Given the description of an element on the screen output the (x, y) to click on. 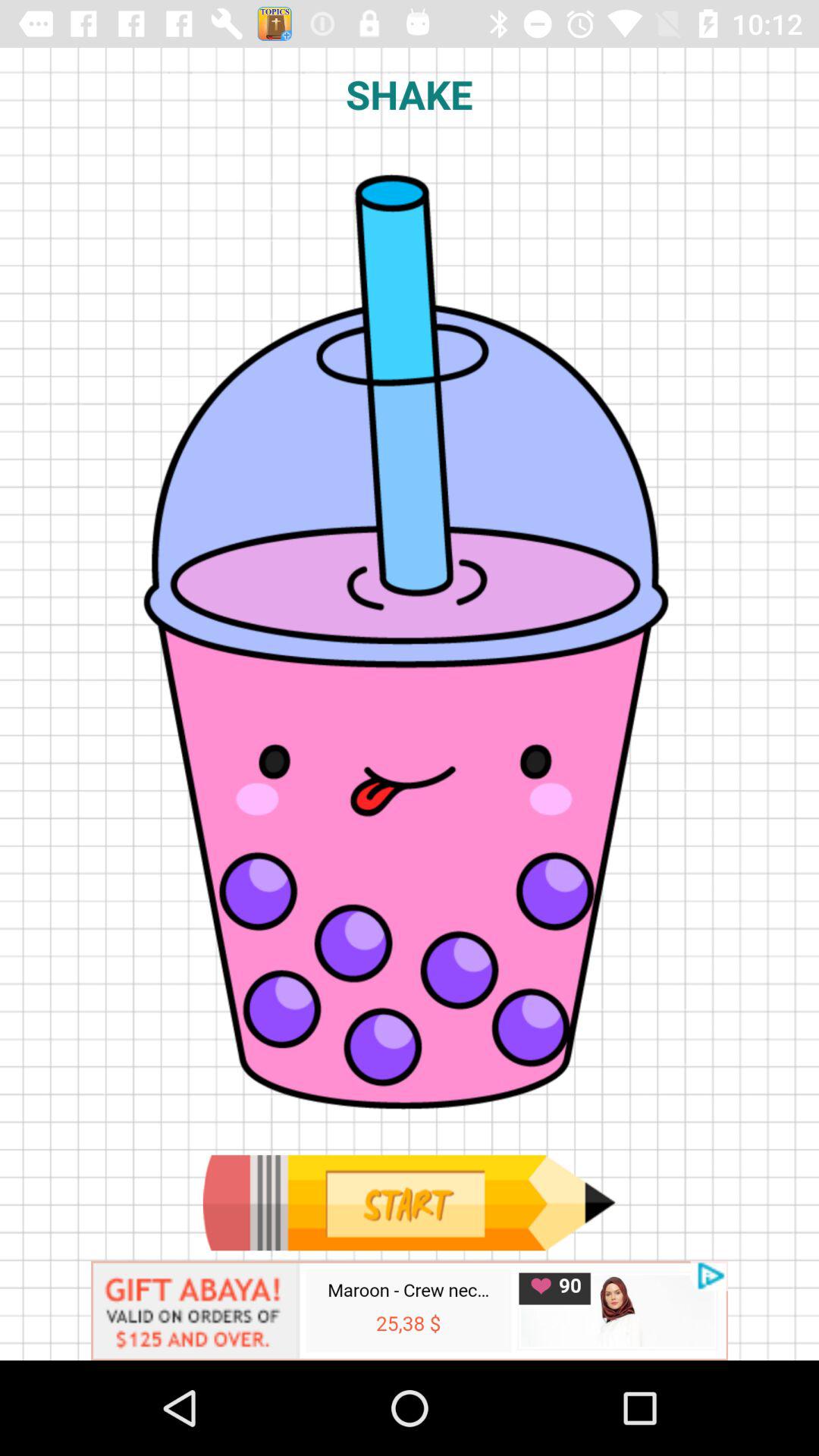
opens up advertisement (409, 1310)
